Given the description of an element on the screen output the (x, y) to click on. 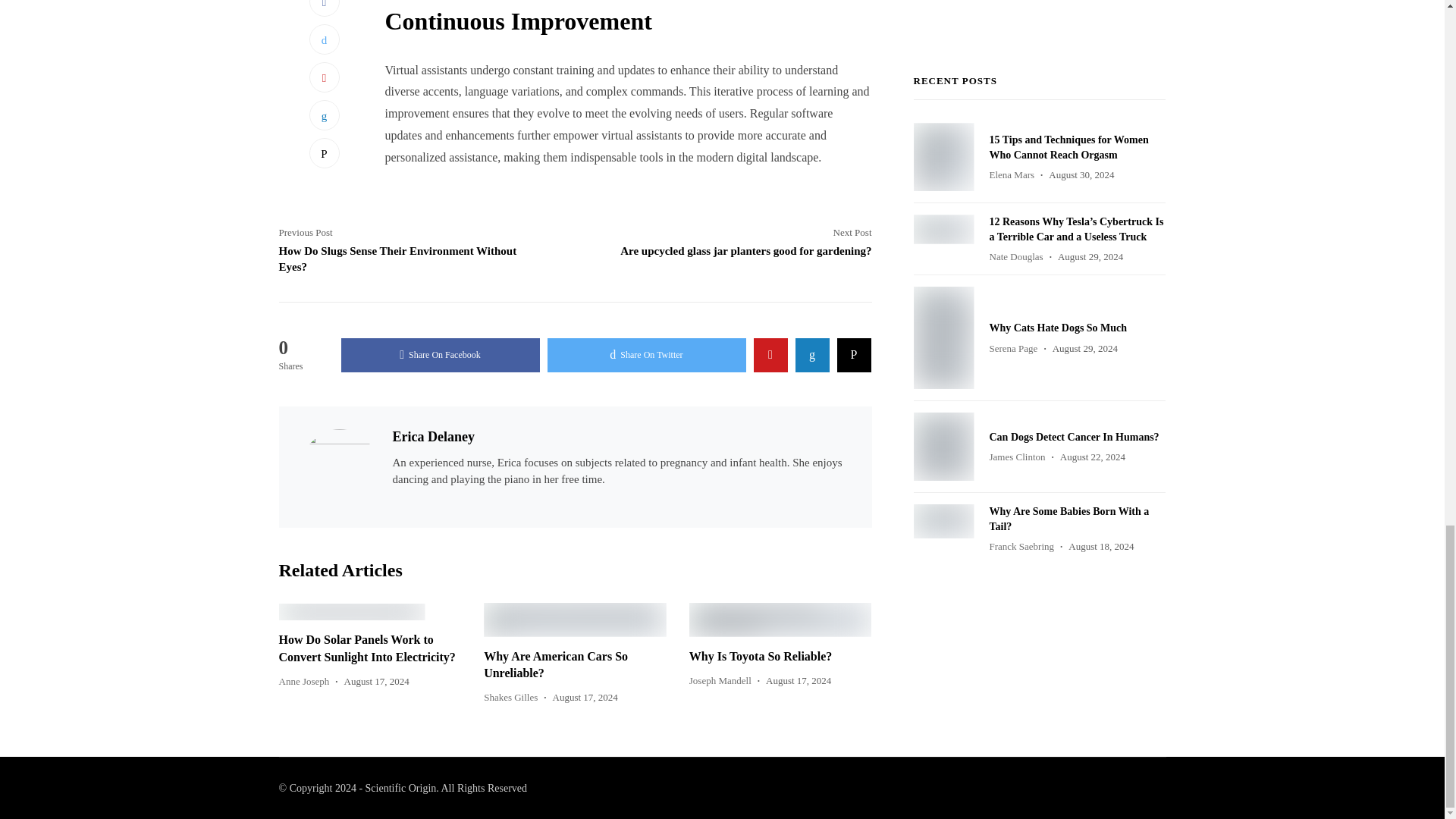
Why Is Toyota So Reliable? 4 (780, 619)
Posts by Anne Joseph (304, 681)
Posts by Joseph Mandell (719, 680)
Posts by Shakes Gilles (510, 696)
Why Are American Cars So Unreliable? 3 (574, 619)
